Given the description of an element on the screen output the (x, y) to click on. 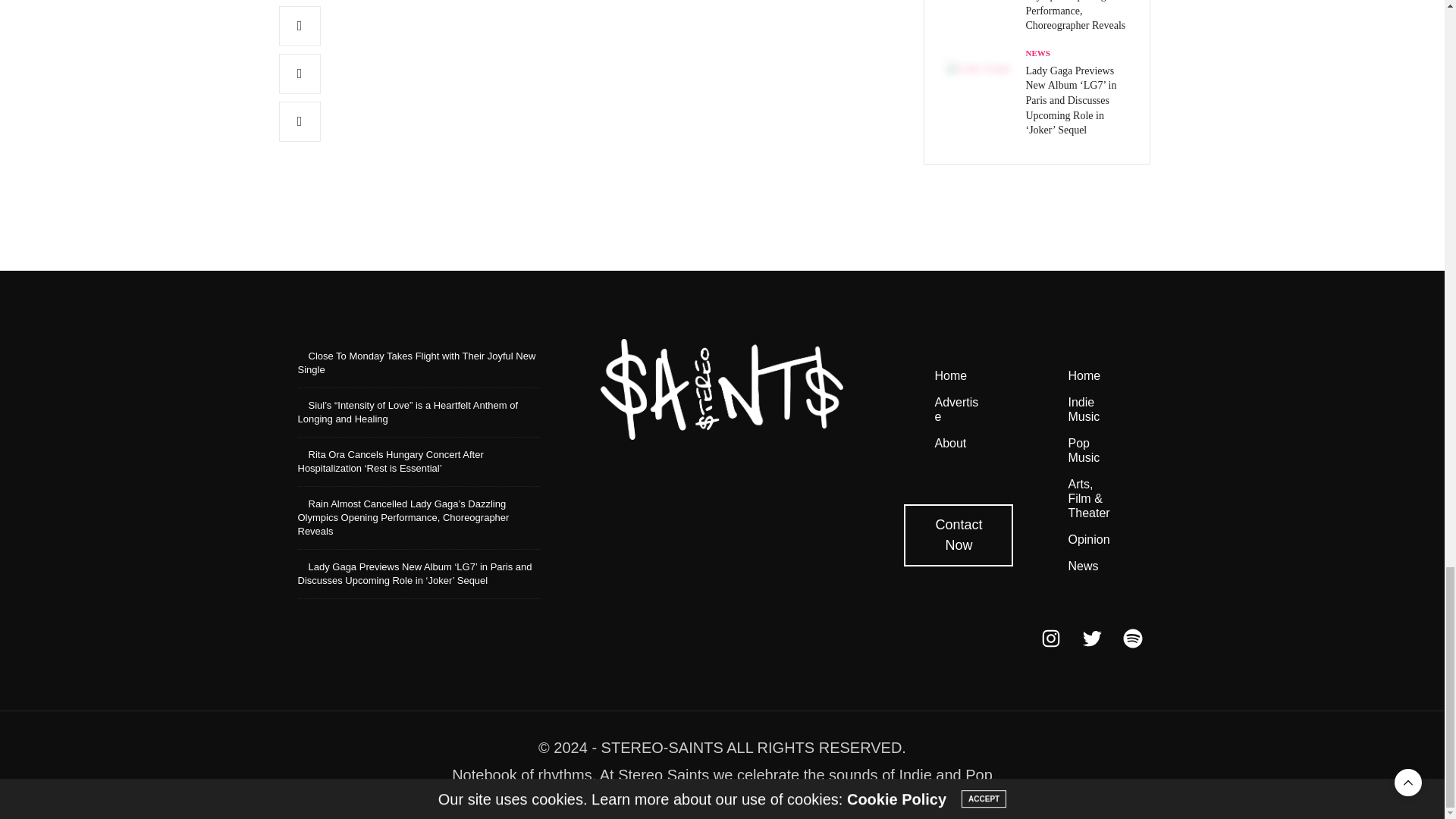
YouTube video player (699, 78)
